Given the description of an element on the screen output the (x, y) to click on. 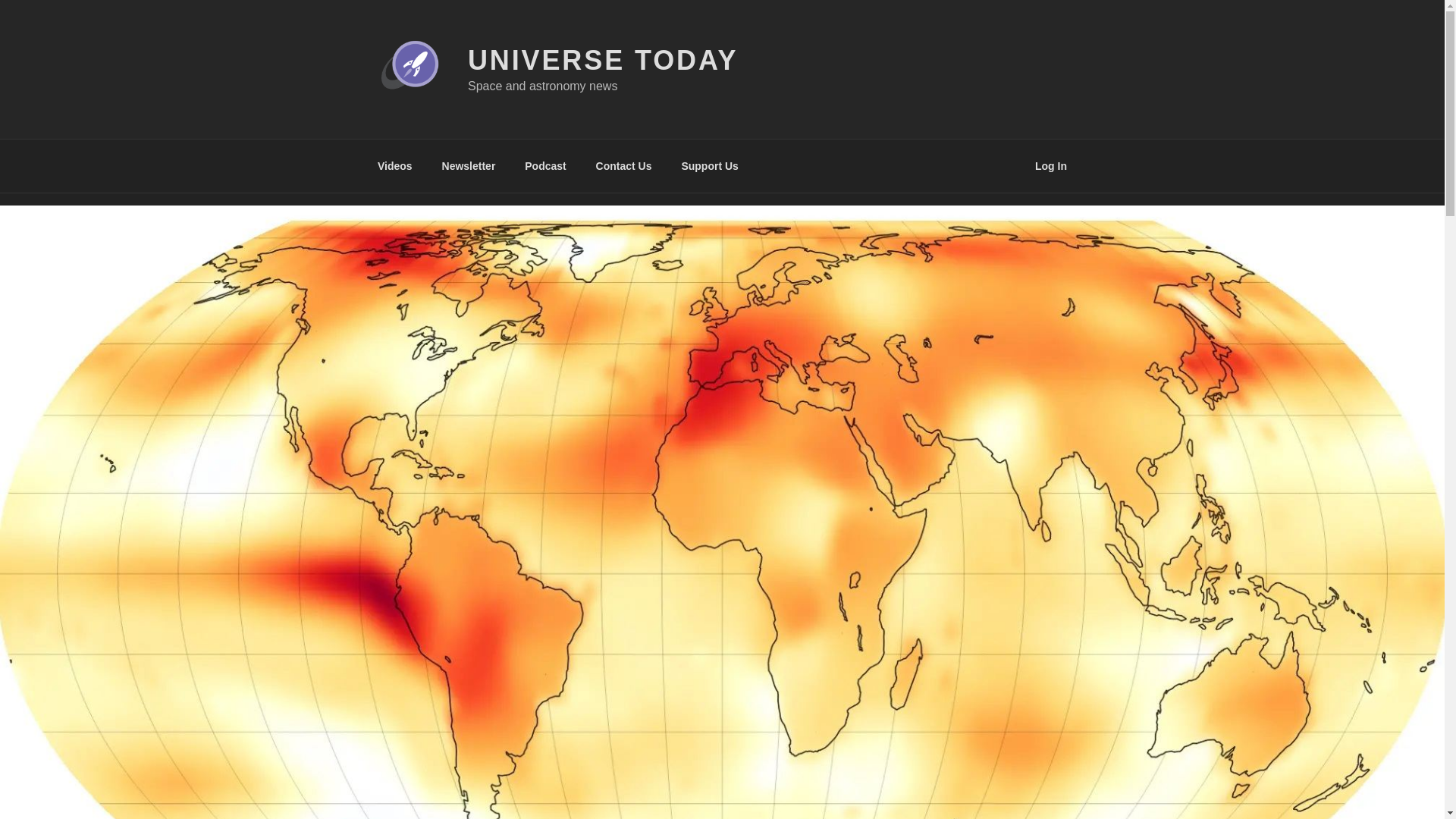
Log In (1051, 165)
Newsletter (468, 165)
UNIVERSE TODAY (602, 60)
Videos (394, 165)
Podcast (545, 165)
Contact Us (623, 165)
Support Us (709, 165)
